Given the description of an element on the screen output the (x, y) to click on. 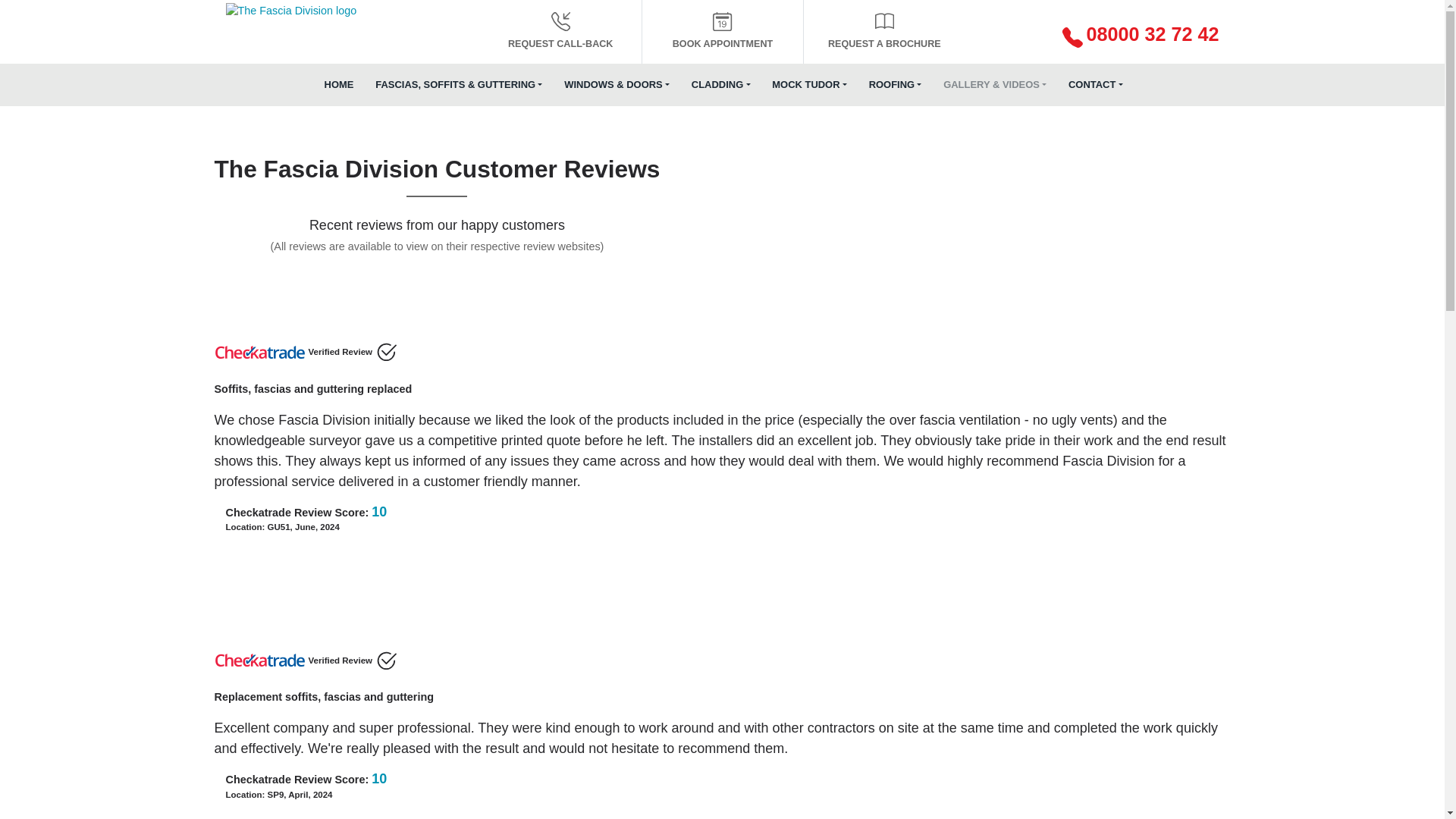
Request a Brochure (883, 31)
Book an appointment (722, 31)
Request a Call back (559, 31)
REQUEST CALL-BACK (559, 31)
REQUEST A BROCHURE (883, 31)
BOOK APPOINTMENT (722, 31)
08000 32 72 42 (1102, 35)
